Given the description of an element on the screen output the (x, y) to click on. 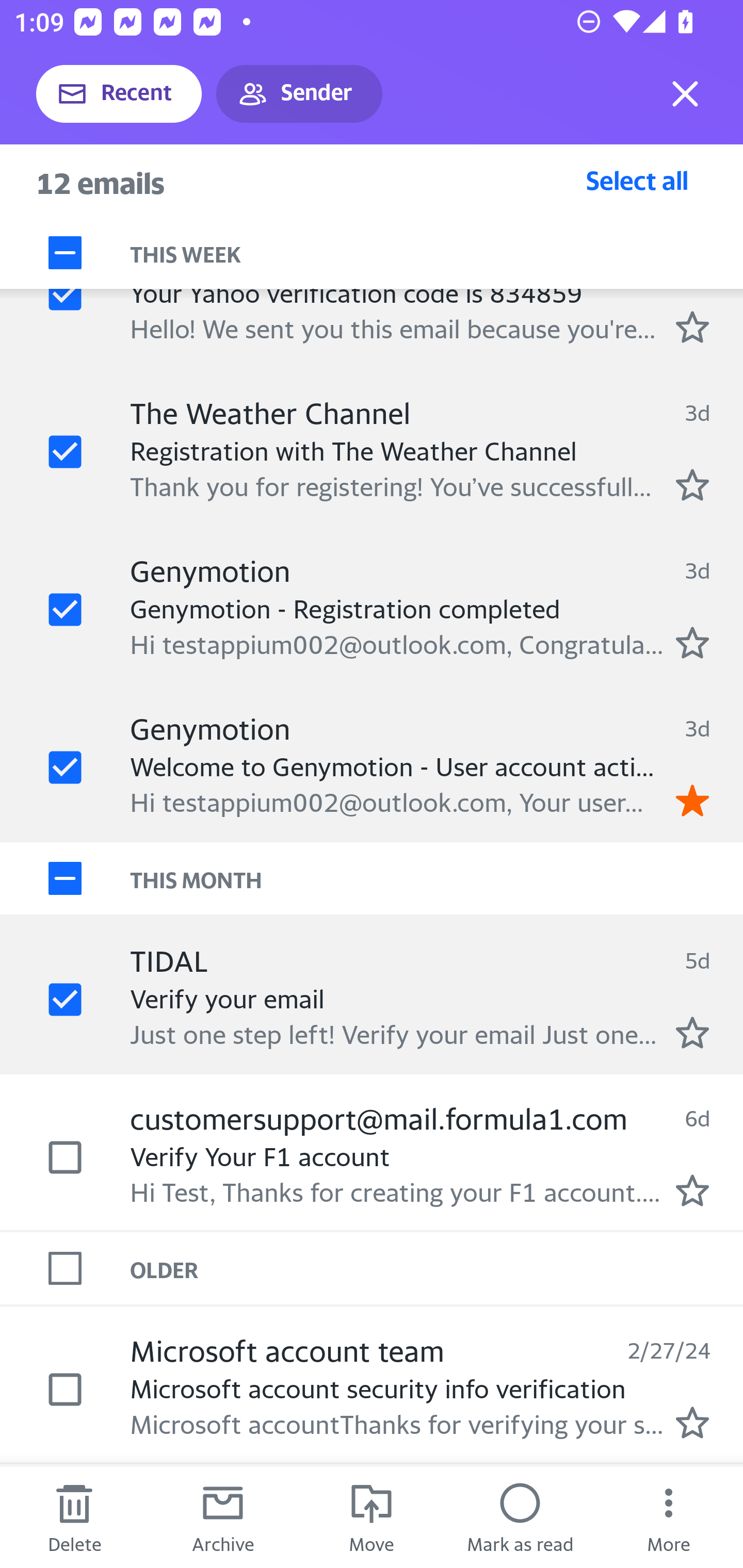
Sender (299, 93)
Exit selection mode (684, 93)
Select all (637, 180)
Mark as starred. (692, 326)
Mark as starred. (692, 485)
Mark as starred. (692, 642)
Remove star. (692, 800)
THIS MONTH (436, 878)
Mark as starred. (692, 1032)
Mark as starred. (692, 1190)
OLDER (436, 1267)
Mark as starred. (692, 1422)
Delete (74, 1517)
Archive (222, 1517)
Move (371, 1517)
Mark as read (519, 1517)
More (668, 1517)
